Given the description of an element on the screen output the (x, y) to click on. 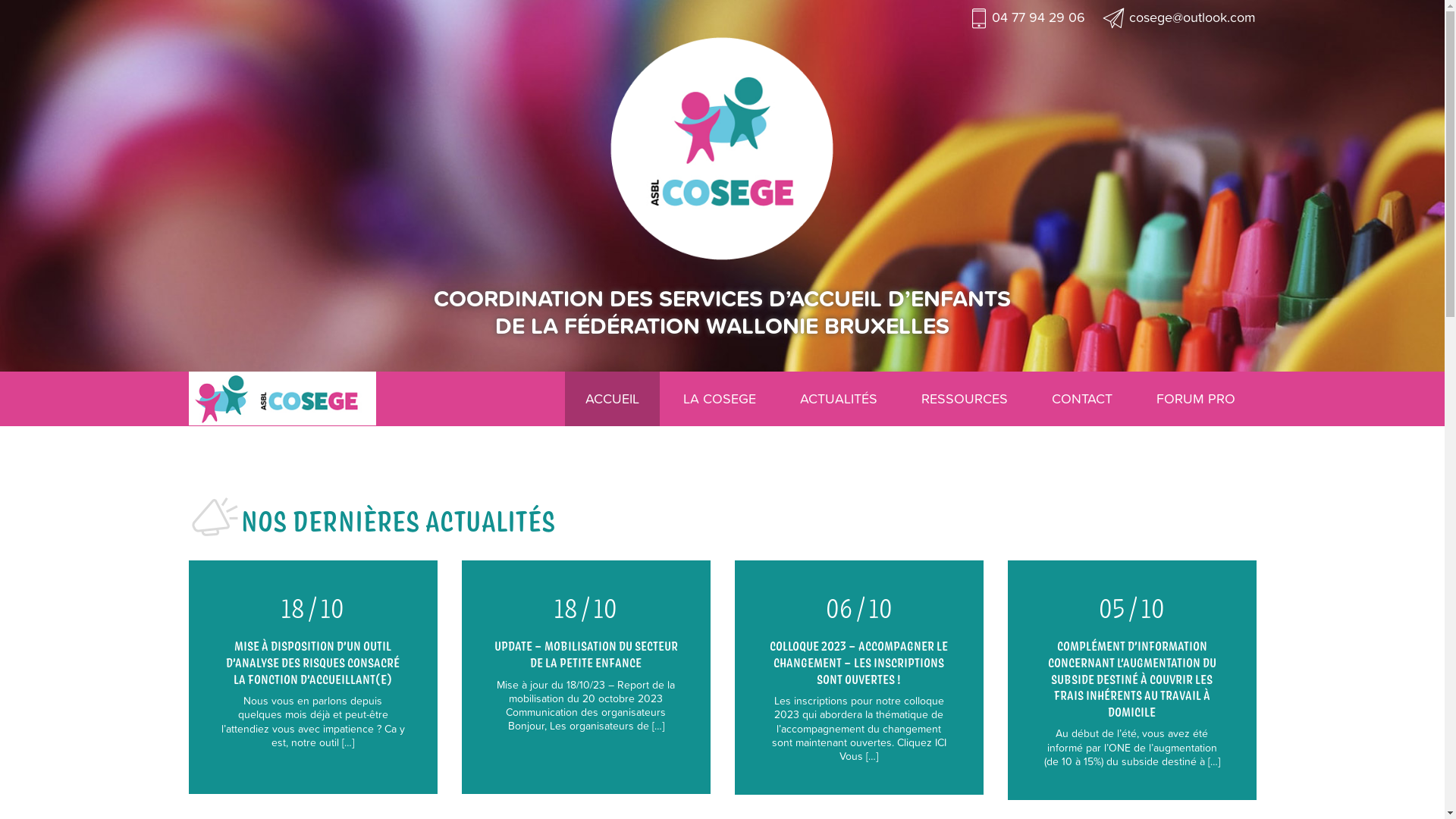
cosege@outlook.com Element type: text (1178, 16)
Cosege Element type: hover (281, 398)
ACCUEIL Element type: text (611, 398)
FORUM PRO Element type: text (1195, 398)
04 77 94 29 06 Element type: text (1027, 16)
RESSOURCES Element type: text (964, 398)
CONTACT Element type: text (1081, 398)
LA COSEGE Element type: text (719, 398)
